Given the description of an element on the screen output the (x, y) to click on. 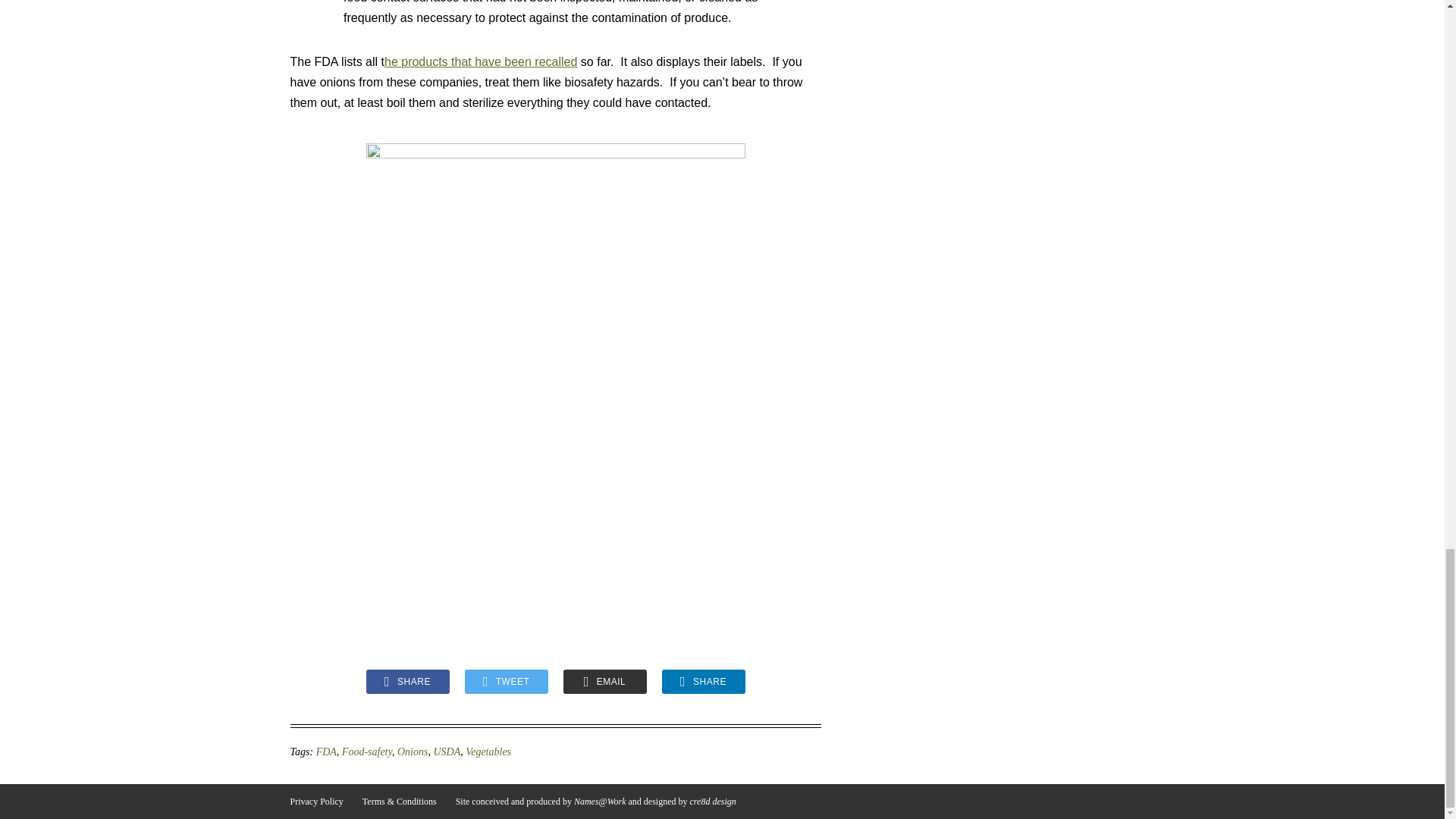
he products that have been recalled (480, 61)
SHARE (406, 681)
TWEET (505, 681)
FDA (325, 751)
Food-safety (366, 751)
SHARE (702, 681)
USDA (446, 751)
EMAIL (604, 681)
Vegetables (488, 751)
Onions (412, 751)
